Given the description of an element on the screen output the (x, y) to click on. 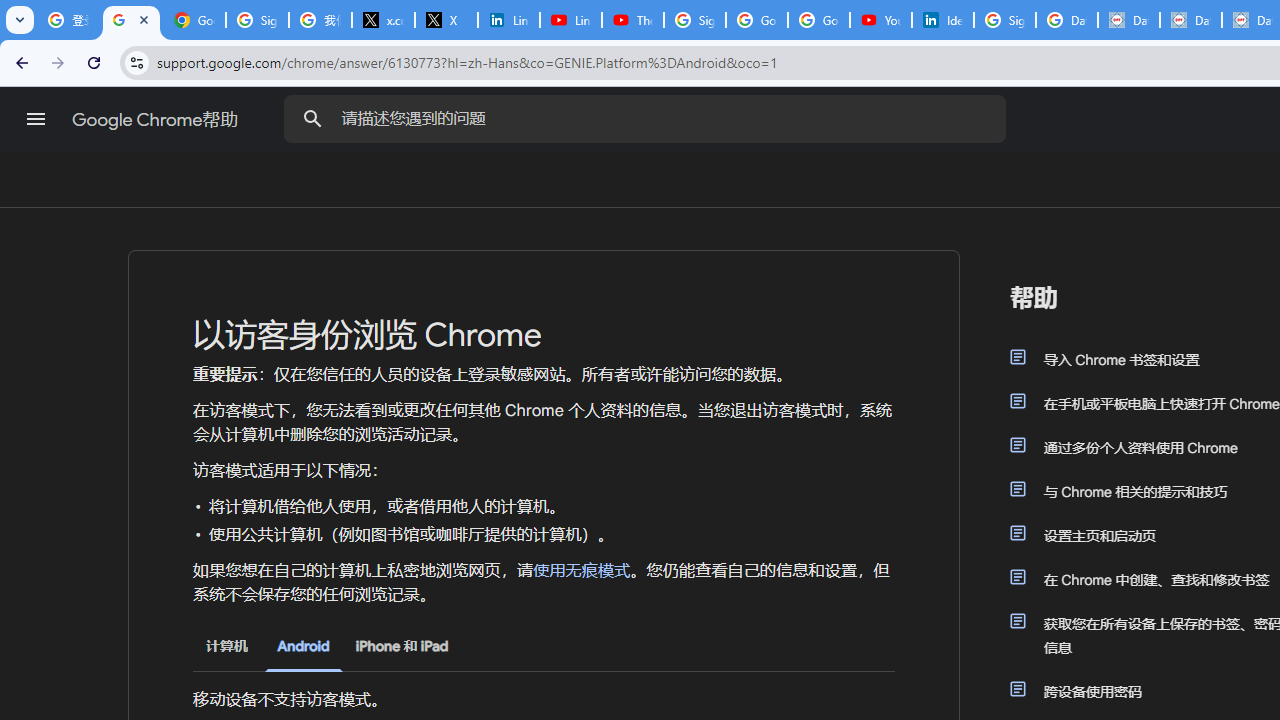
Sign in - Google Accounts (1004, 20)
Forward (57, 62)
